Given the description of an element on the screen output the (x, y) to click on. 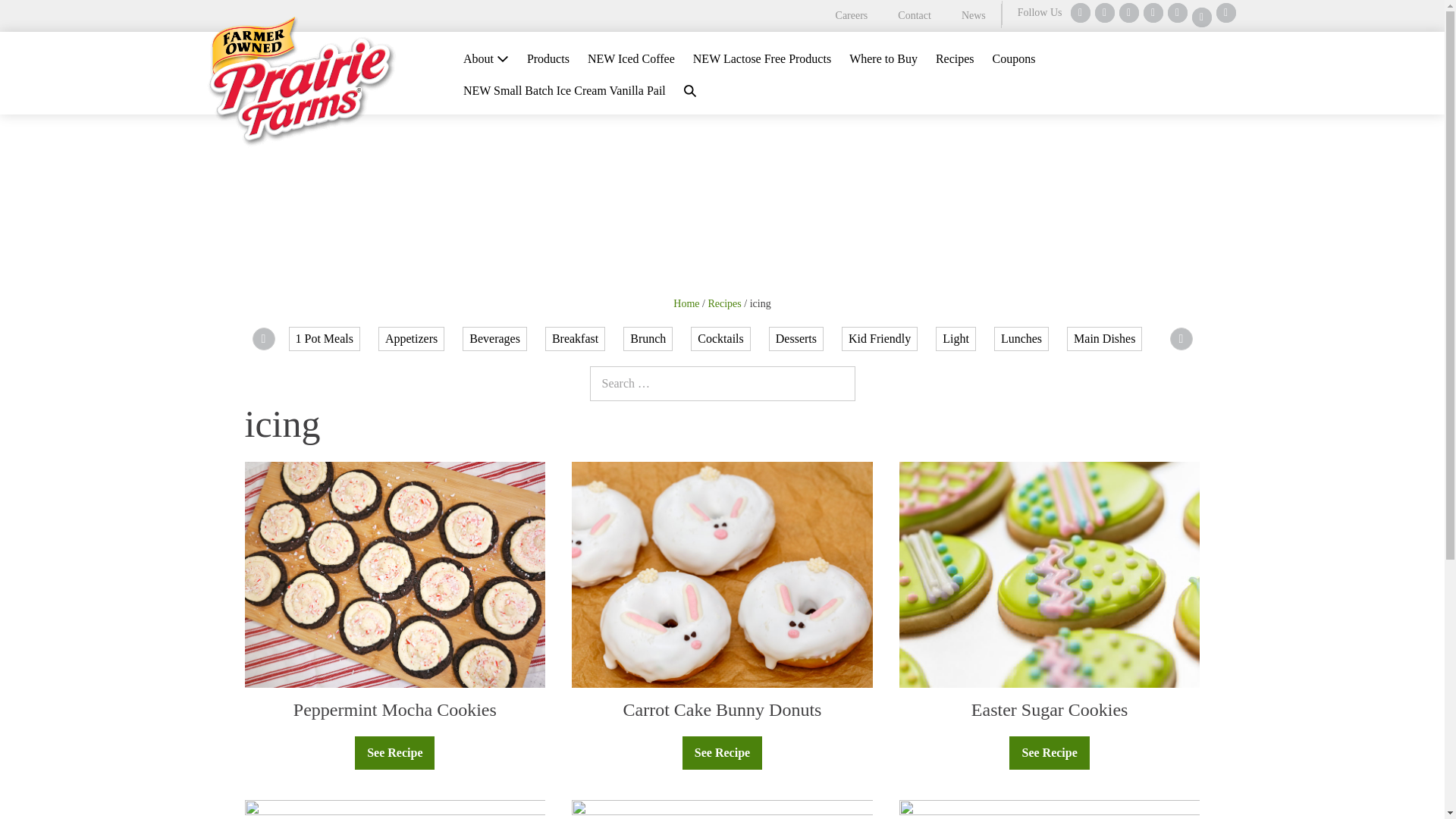
Easter Sugar Cookies (1049, 709)
Coupons (1014, 59)
NEW Iced Coffee (631, 59)
Recipes (955, 59)
NEW Small Batch Ice Cream Vanilla Pail (564, 91)
About (486, 59)
Facebook (1080, 12)
Products (548, 59)
NEW Lactose Free Products (762, 59)
Previous (263, 338)
